Given the description of an element on the screen output the (x, y) to click on. 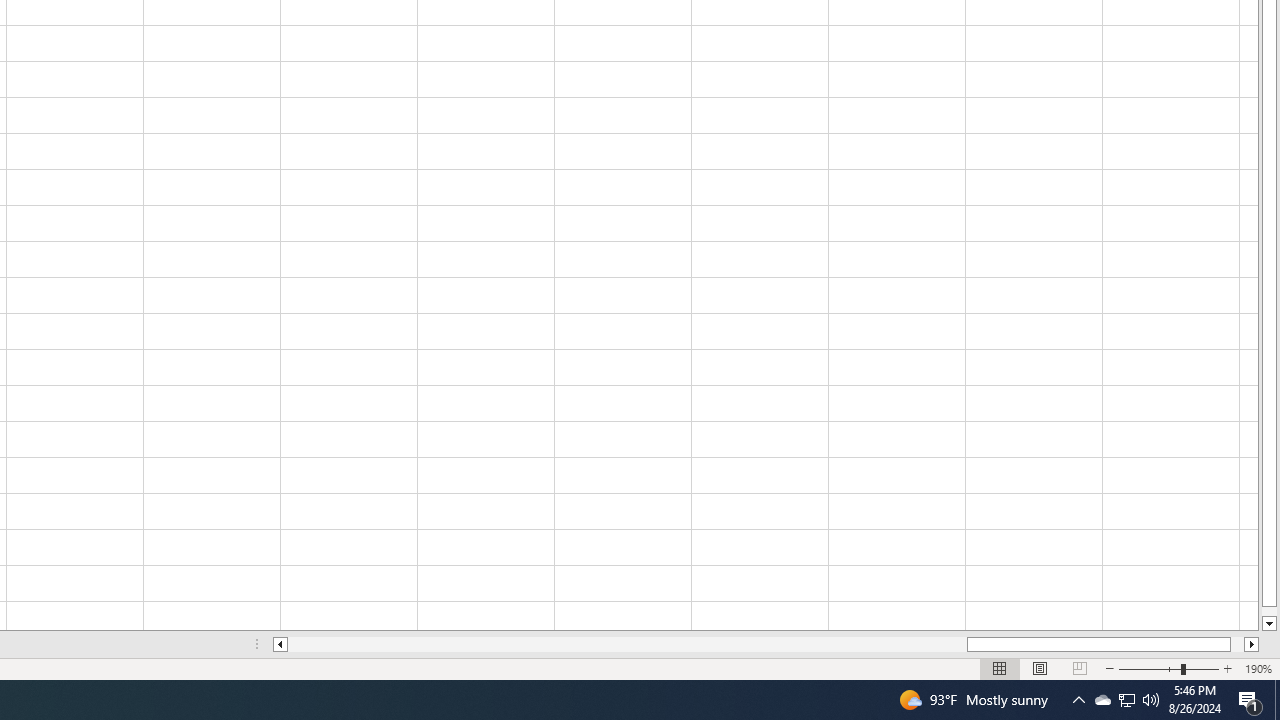
Page left (627, 644)
